Given the description of an element on the screen output the (x, y) to click on. 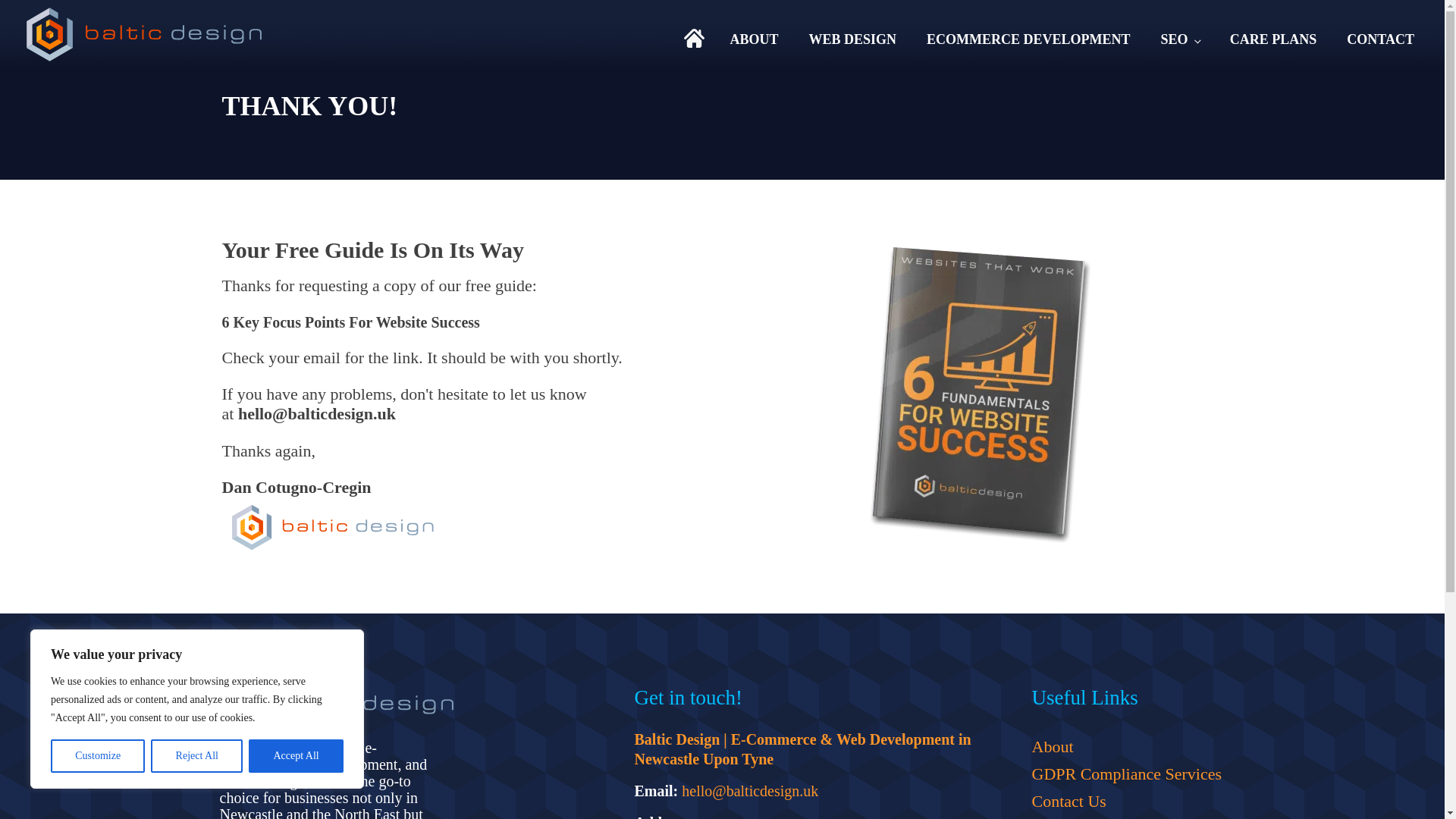
ECOMMERCE DEVELOPMENT (1028, 34)
CONTACT (1380, 34)
Contact Us (1125, 800)
ABOUT (753, 34)
Reject All (197, 756)
CARE PLANS (1273, 34)
Accept All (295, 756)
WEB DESIGN (852, 34)
Customize (97, 756)
GDPR Compliance Services (1125, 773)
HOME (699, 37)
About (1125, 746)
Our Blog (1125, 817)
SEO (1179, 34)
